Given the description of an element on the screen output the (x, y) to click on. 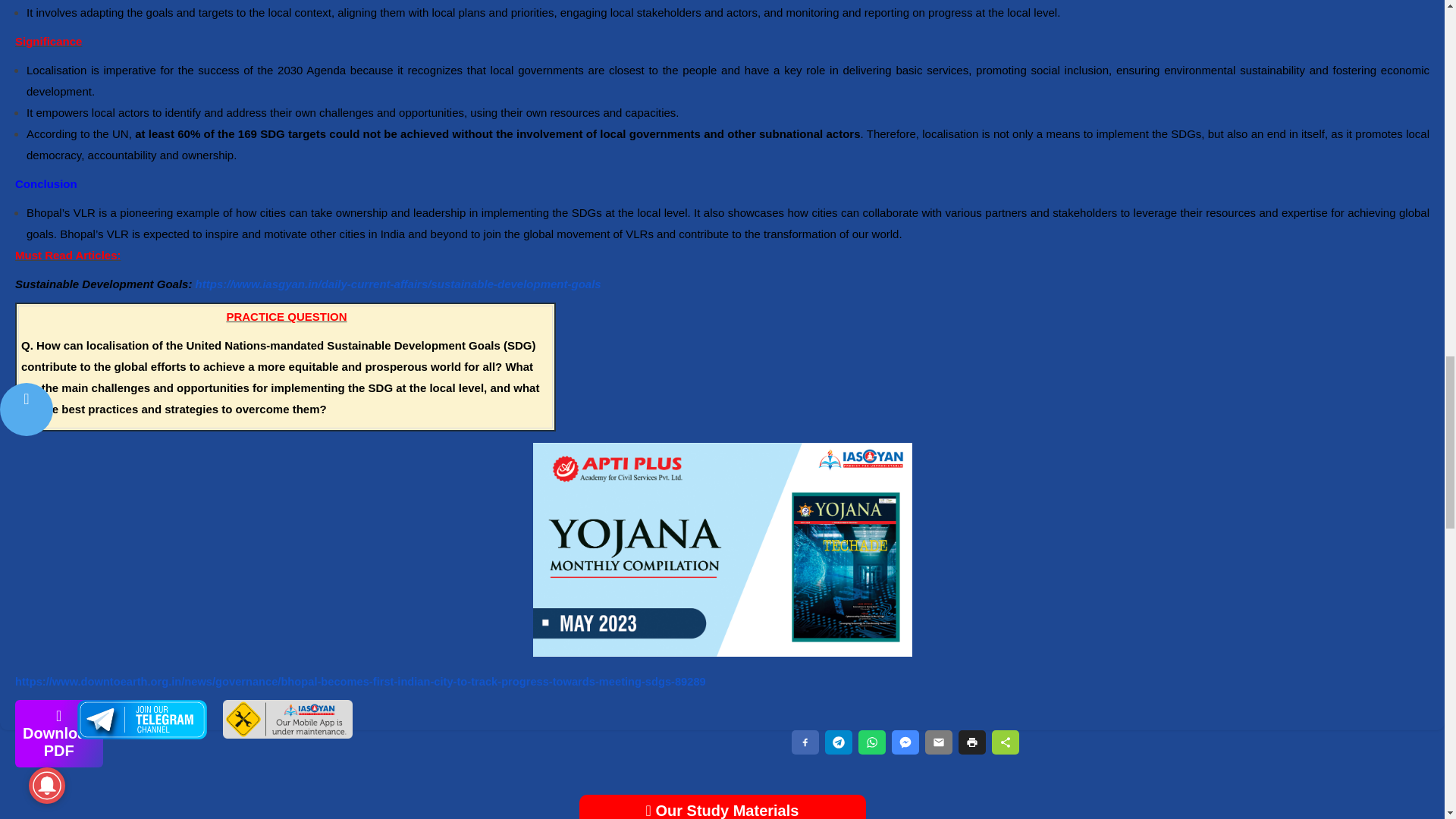
Download IAS Gyan Learning App (287, 734)
